Given the description of an element on the screen output the (x, y) to click on. 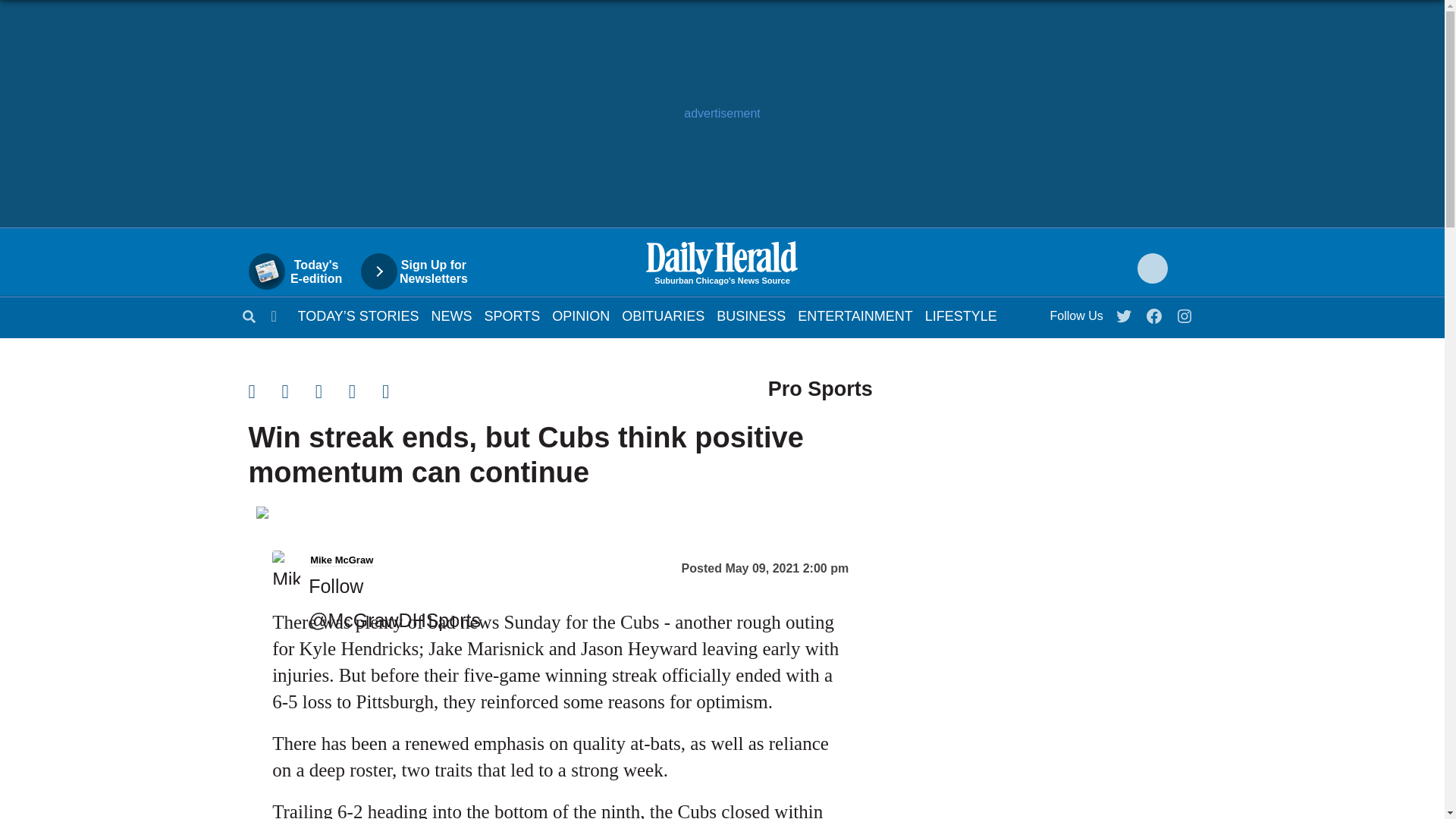
Lifestyle (960, 315)
NEWS (450, 315)
Sign Up for Newsletters (303, 271)
Twitter (421, 271)
Today's Stories (1124, 312)
Sports (358, 315)
Entertainment (512, 315)
OPINION (854, 315)
BUSINESS (580, 315)
SPORTS (751, 315)
Share via Email (512, 315)
Instagram (332, 391)
Obituaries (1184, 312)
Opinion (662, 315)
